Given the description of an element on the screen output the (x, y) to click on. 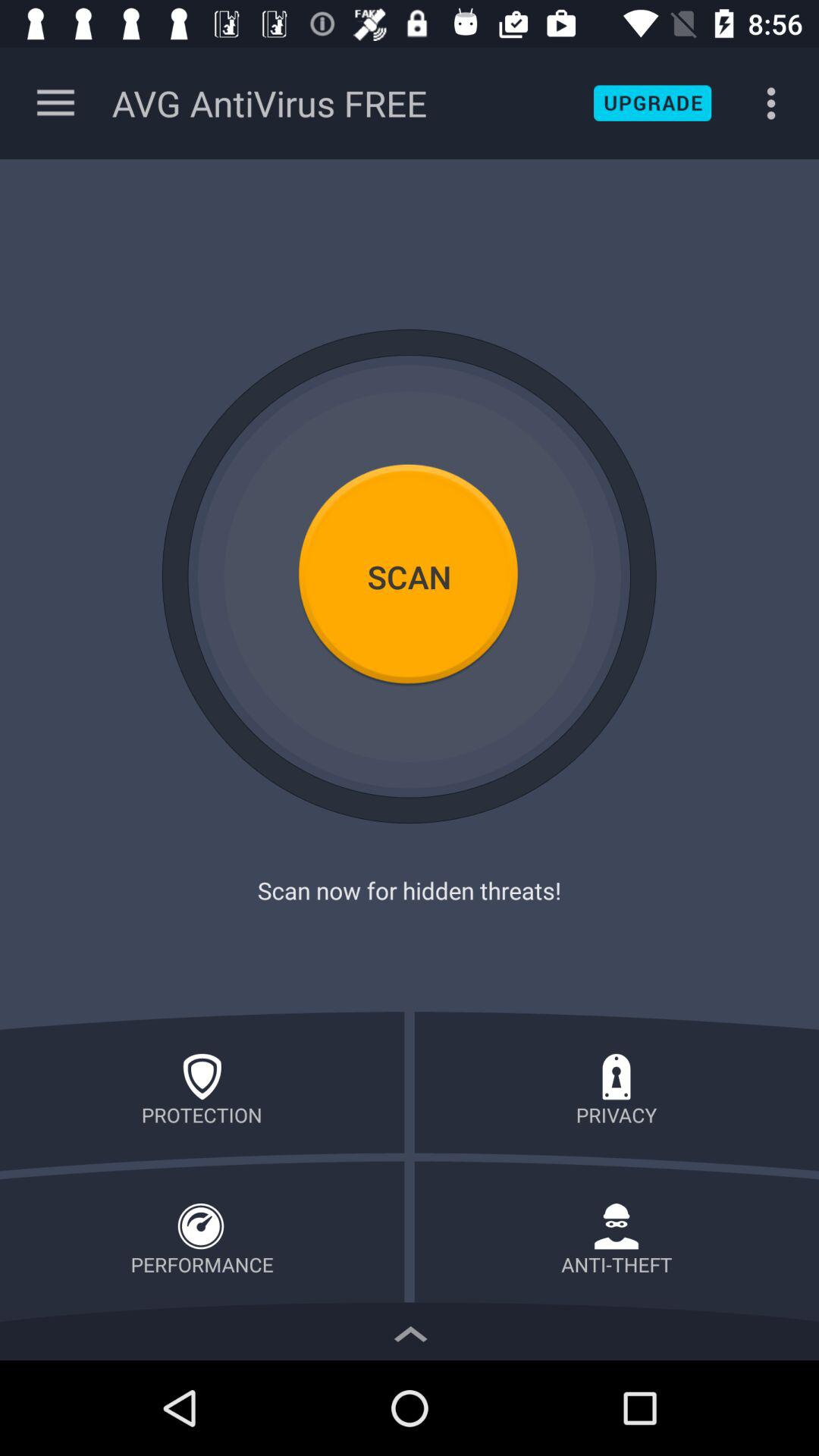
scan (409, 576)
